Given the description of an element on the screen output the (x, y) to click on. 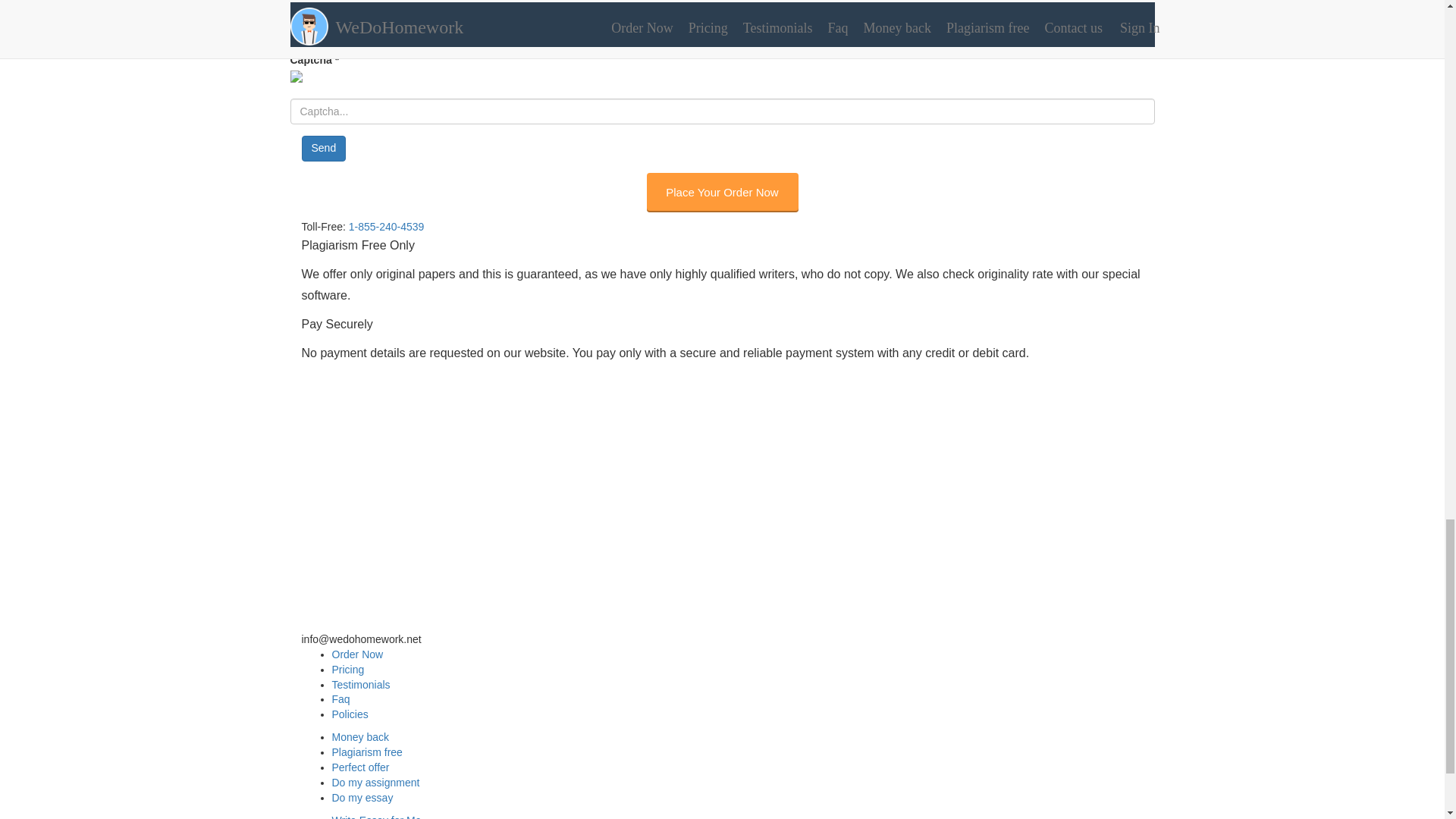
Place Your Order Now (721, 191)
Send (323, 148)
1-855-240-4539 (339, 623)
1-855-240-4539 (387, 226)
Place Your Order Now (721, 191)
